Given the description of an element on the screen output the (x, y) to click on. 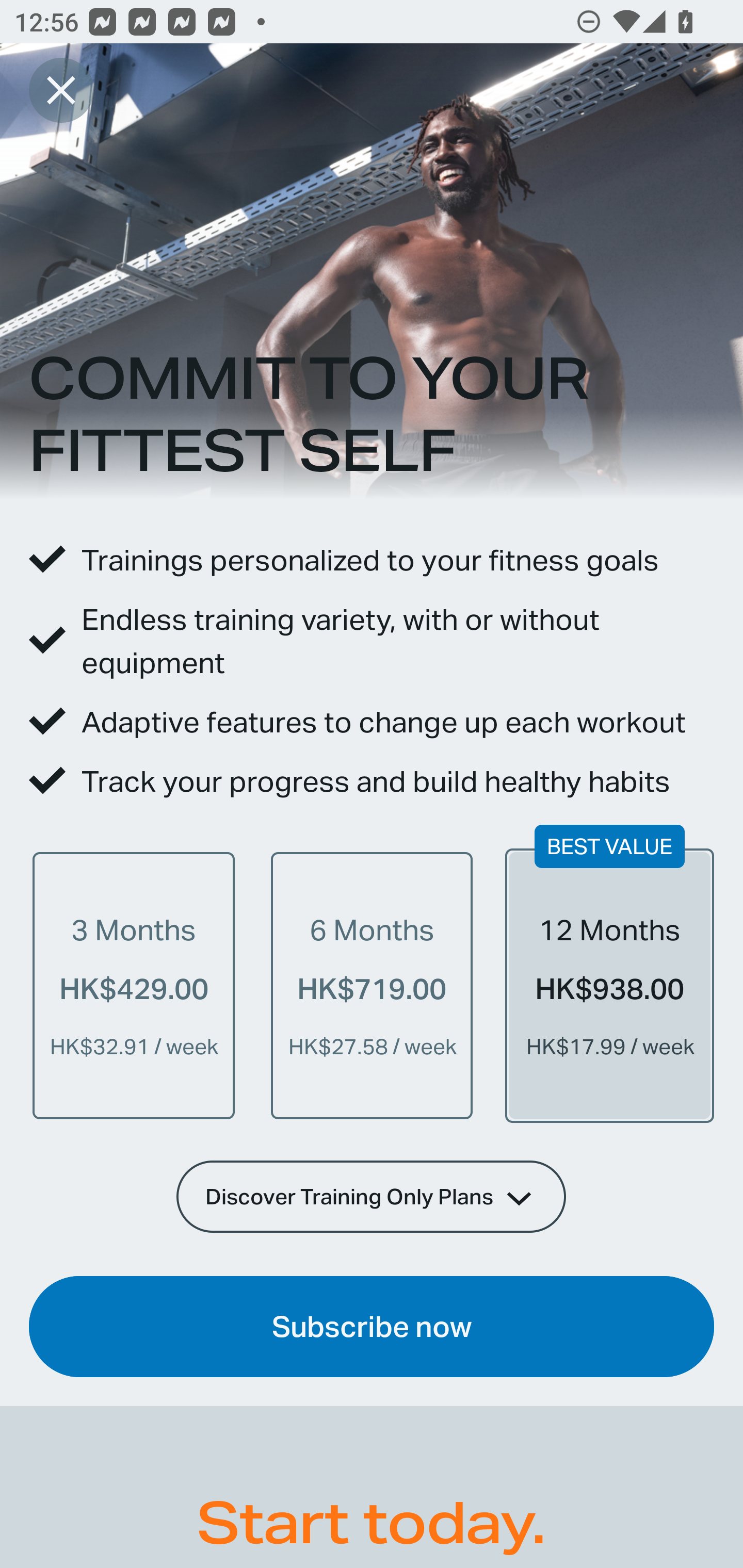
Close (60, 90)
3 Months HK$429.00 HK$32.91 / week (133, 985)
6 Months HK$719.00 HK$27.58 / week (371, 985)
12 Months HK$938.00 HK$17.99 / week (609, 985)
Discover Training Only Plans (371, 1196)
Subscribe now (371, 1326)
